Given the description of an element on the screen output the (x, y) to click on. 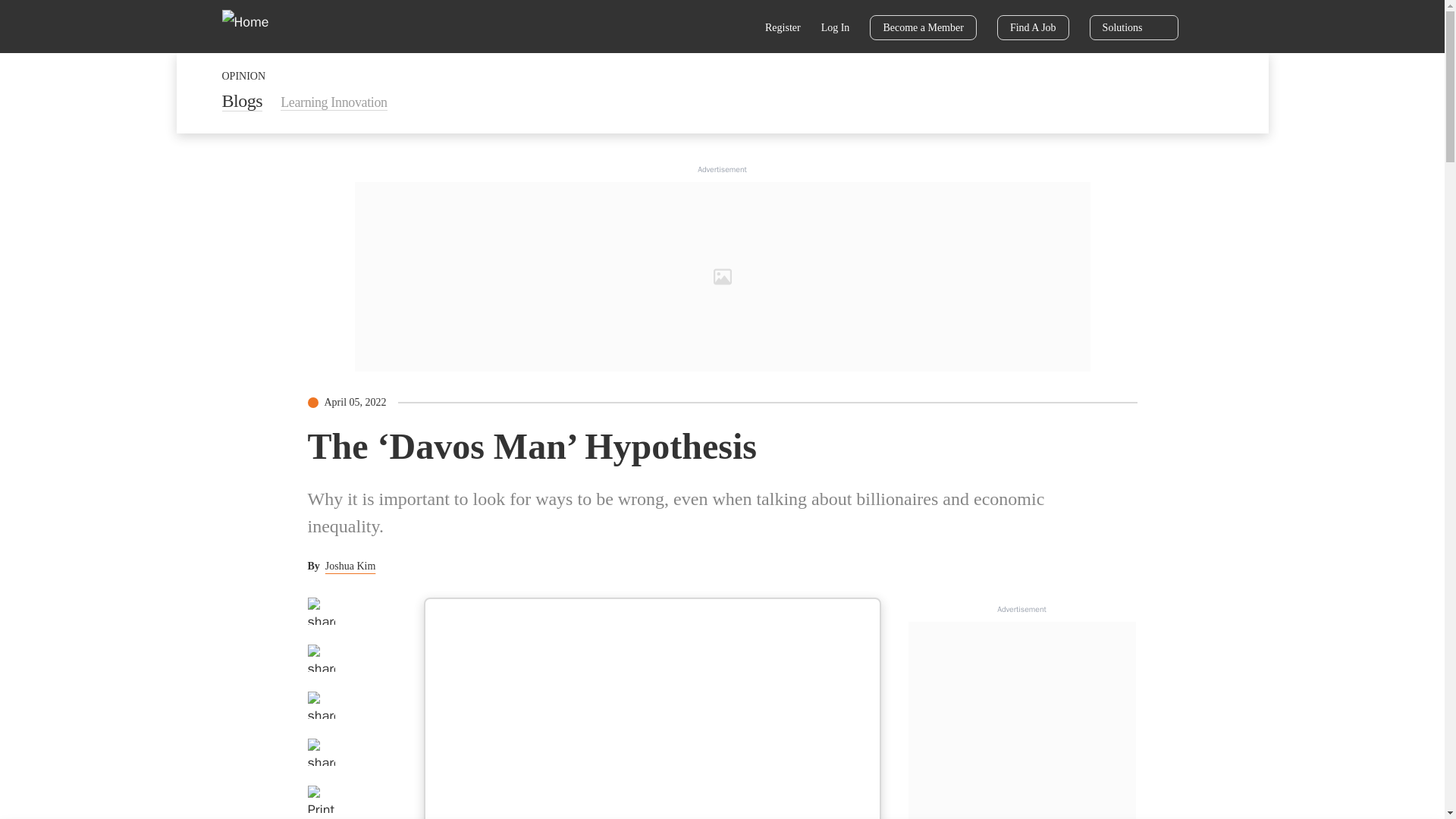
Home (255, 26)
share by email (320, 751)
share to twitter (320, 657)
Become a Member (922, 27)
share to Linkedin (320, 705)
share to facebook (320, 610)
Search (736, 28)
Find A Job (1032, 27)
